Given the description of an element on the screen output the (x, y) to click on. 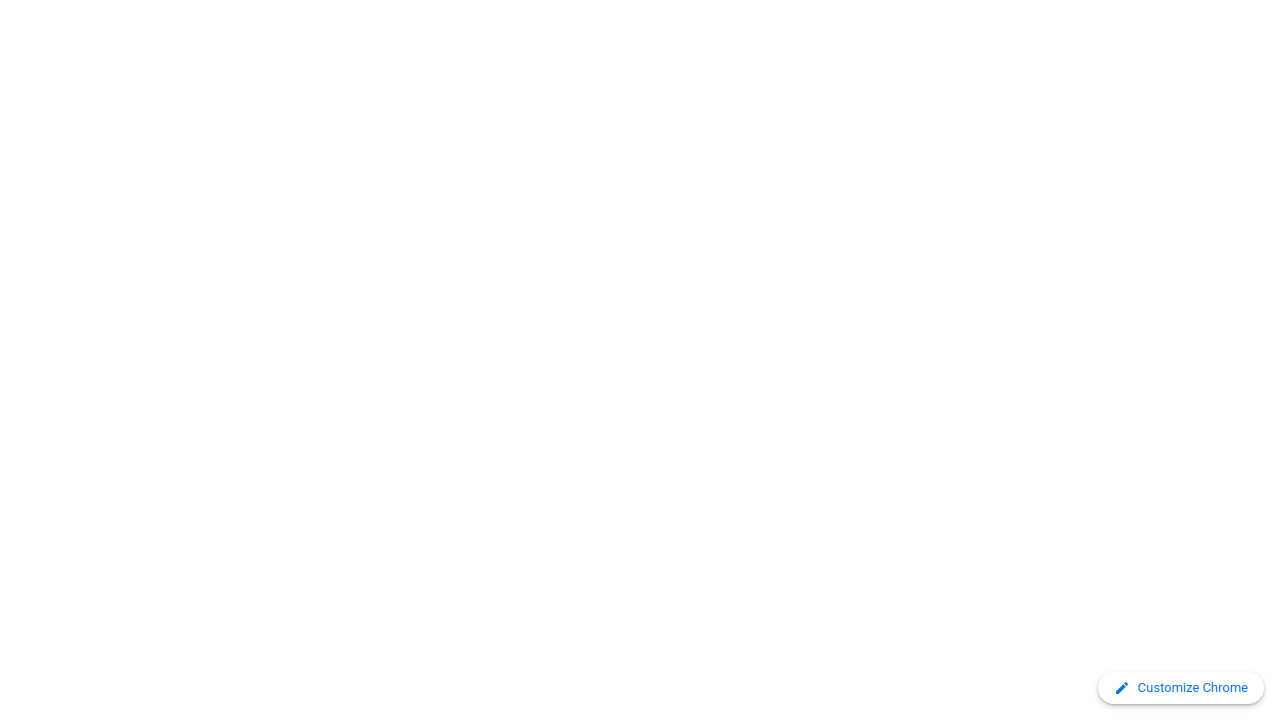
Customize Chrome Element type: toggle-button (1180, 688)
